Given the description of an element on the screen output the (x, y) to click on. 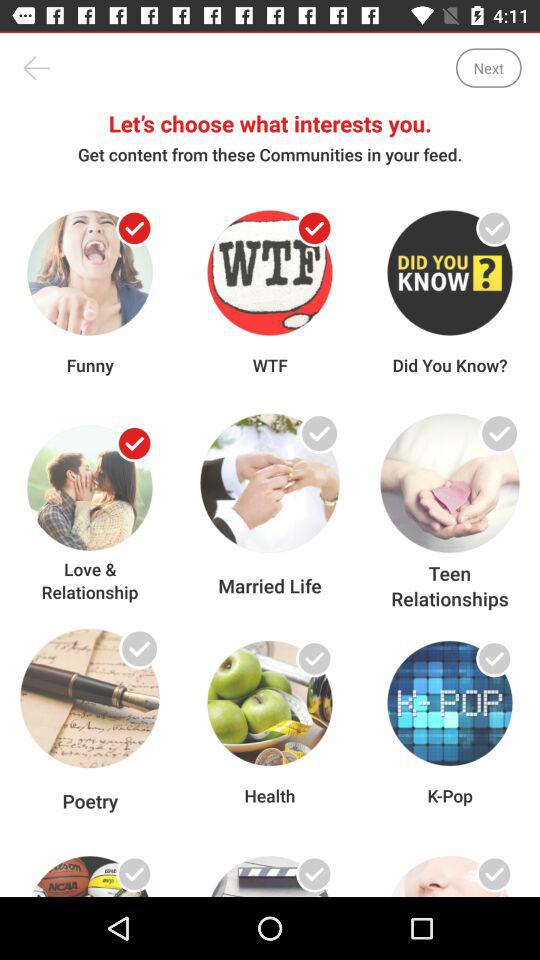
select item as interest (314, 658)
